Given the description of an element on the screen output the (x, y) to click on. 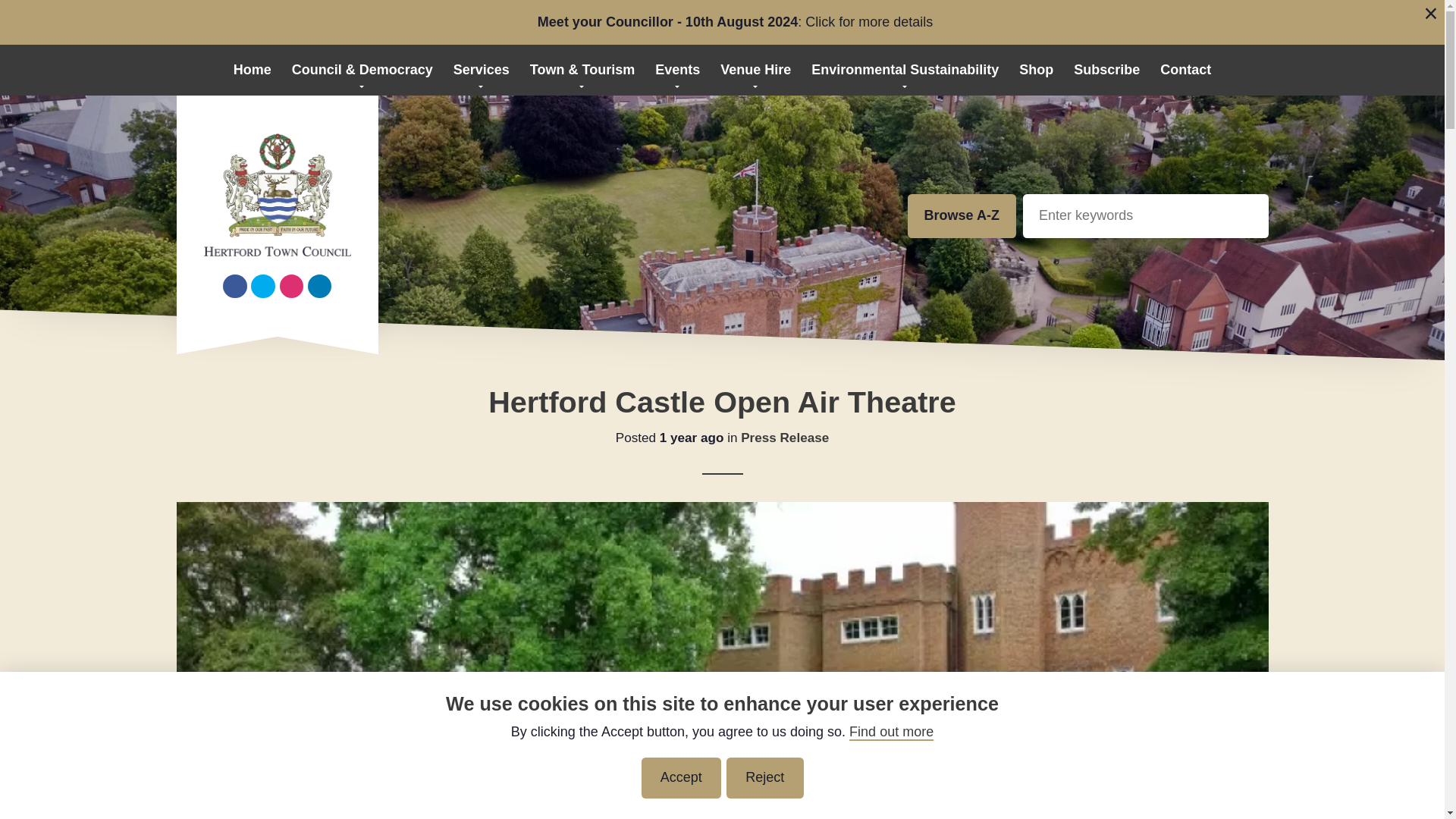
Venue Hire (755, 70)
Follow us on Twitter (262, 286)
Events (677, 70)
Follow us on Linkedin (319, 286)
Subscribe (1107, 70)
Read more on Meet your Councillor - 10th August 2024 (735, 22)
Contact (1185, 70)
Services (480, 70)
Contact (1185, 70)
Home (251, 70)
Find out more about our cookie policy (890, 731)
Press Release (784, 437)
Accept (681, 777)
Find out more (890, 731)
